Given the description of an element on the screen output the (x, y) to click on. 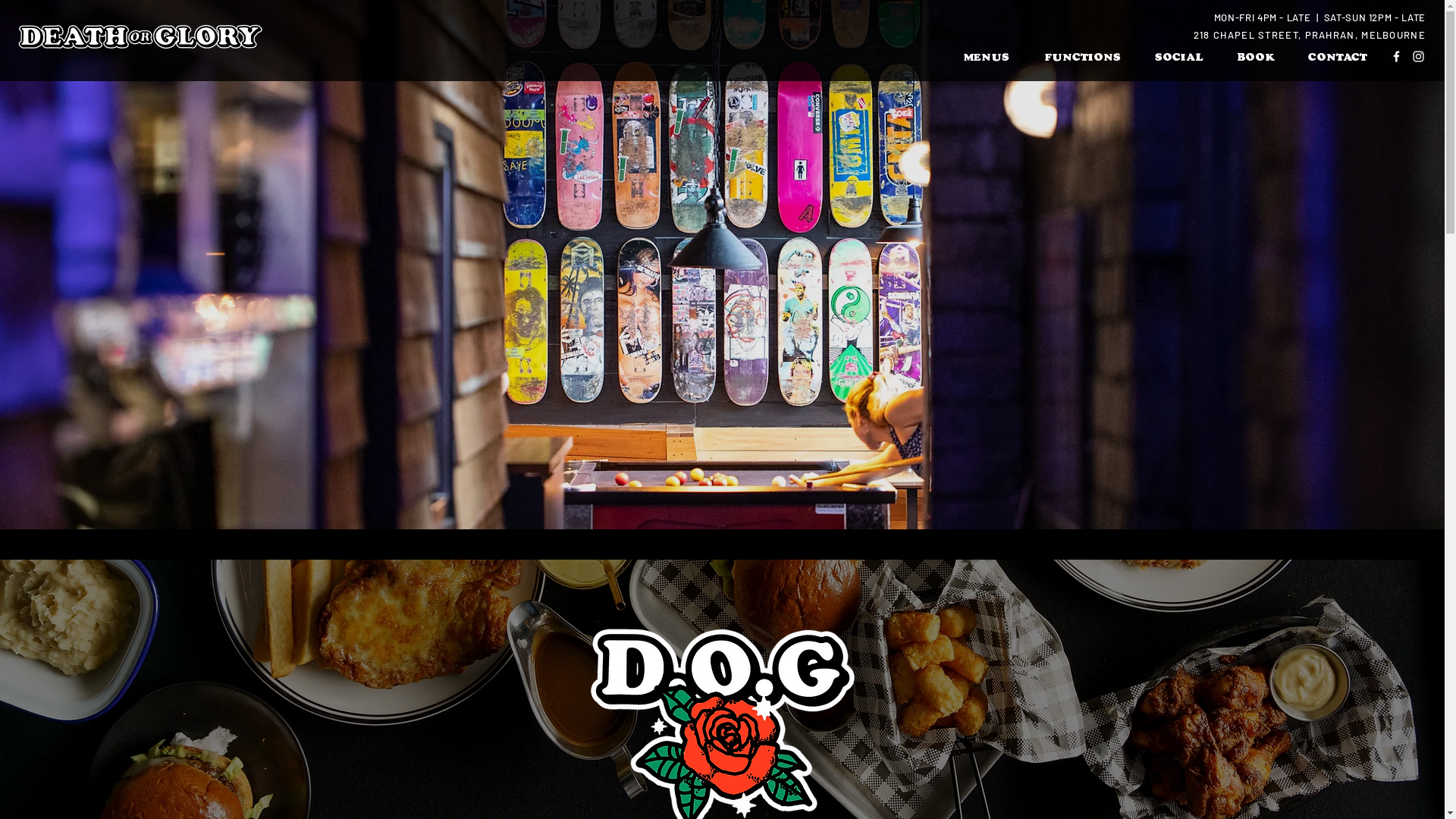
MENUS Element type: text (986, 56)
BOOK Element type: text (1254, 56)
CONTACT Element type: text (1336, 56)
FUNCTIONS Element type: text (1081, 56)
SOCIAL Element type: text (1178, 56)
